Given the description of an element on the screen output the (x, y) to click on. 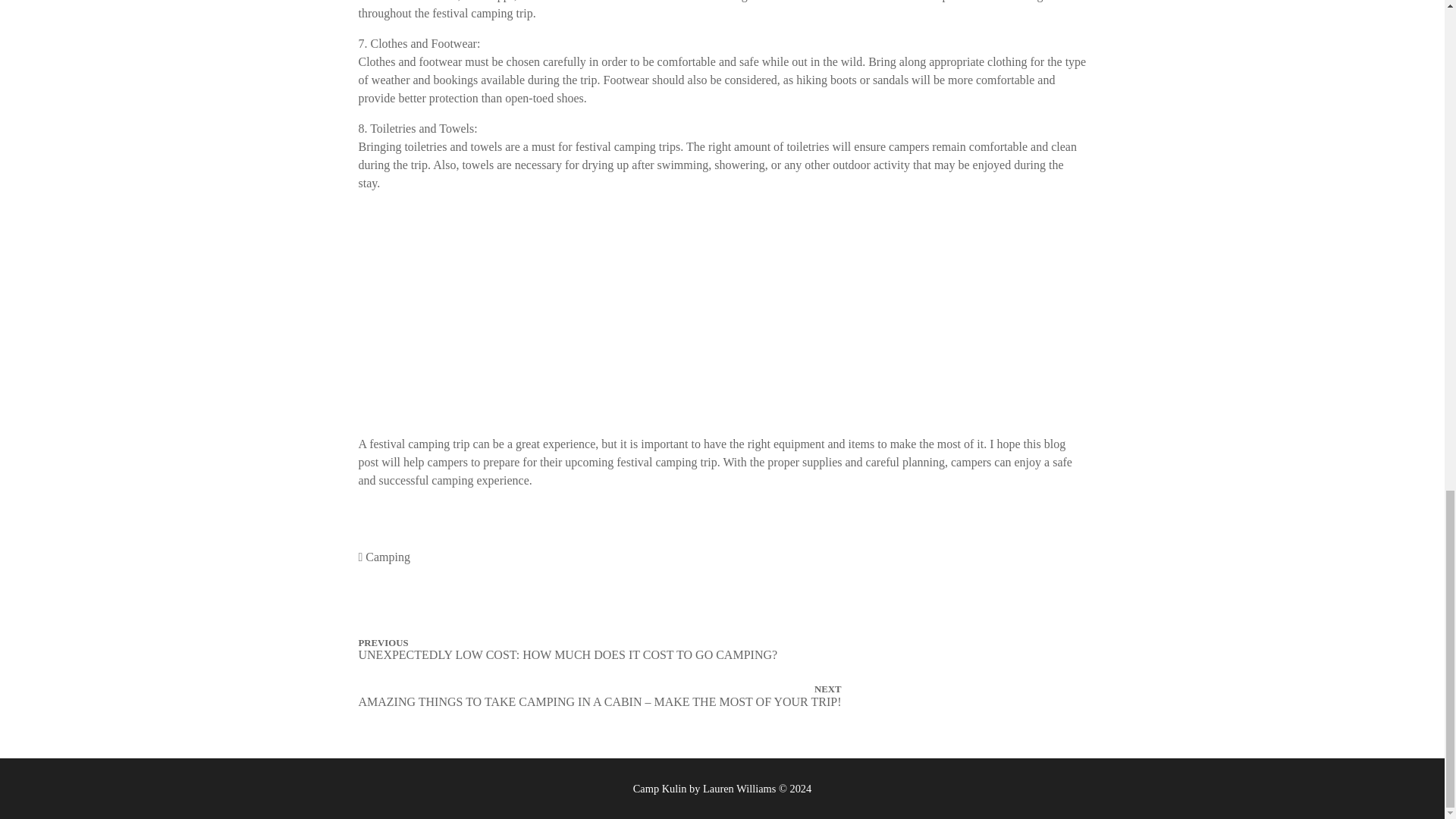
Camping (387, 556)
